Given the description of an element on the screen output the (x, y) to click on. 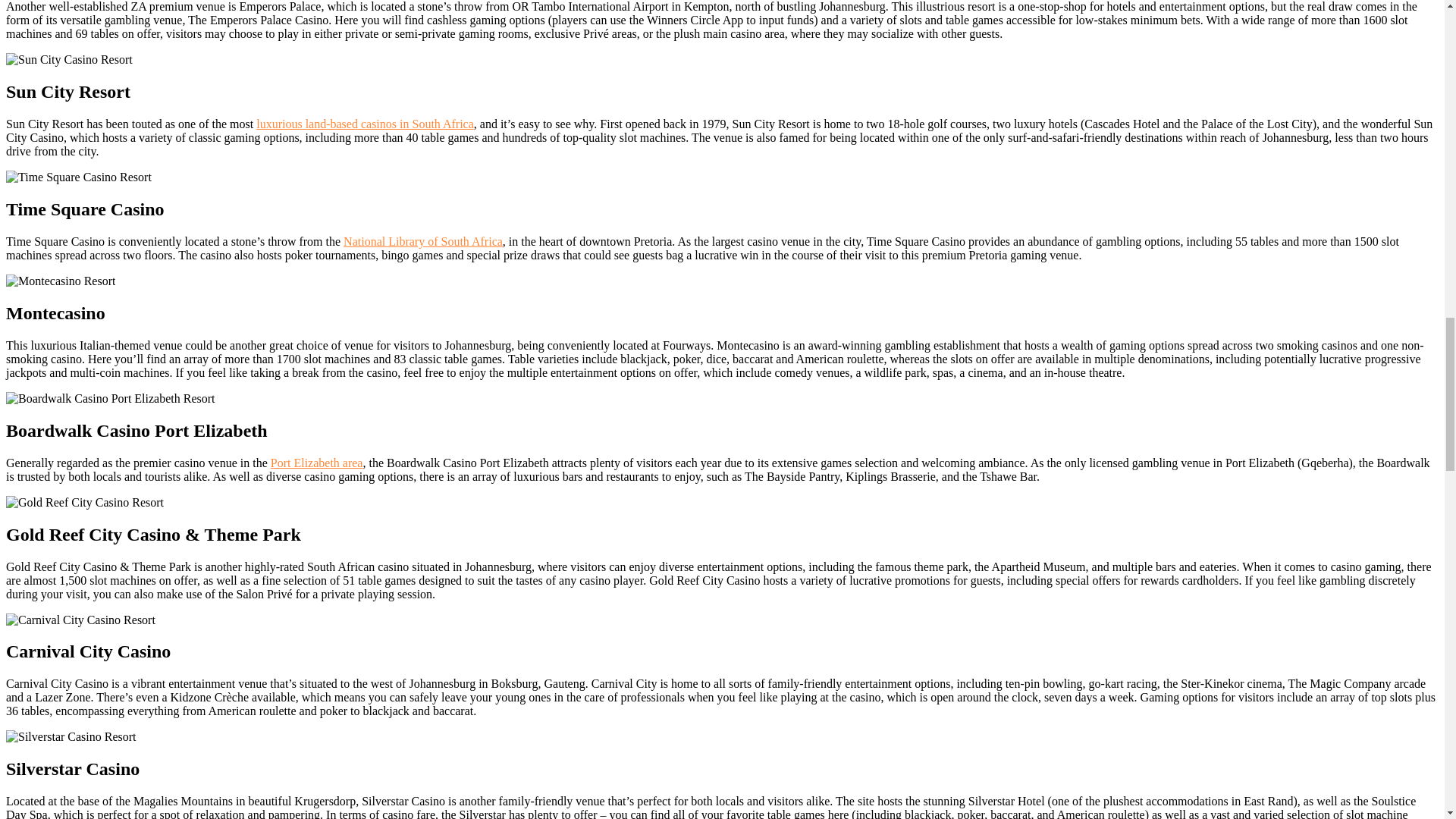
Port Elizabeth area (316, 462)
luxurious land-based casinos in South Africa (365, 123)
National Library of South Africa (422, 241)
